Given the description of an element on the screen output the (x, y) to click on. 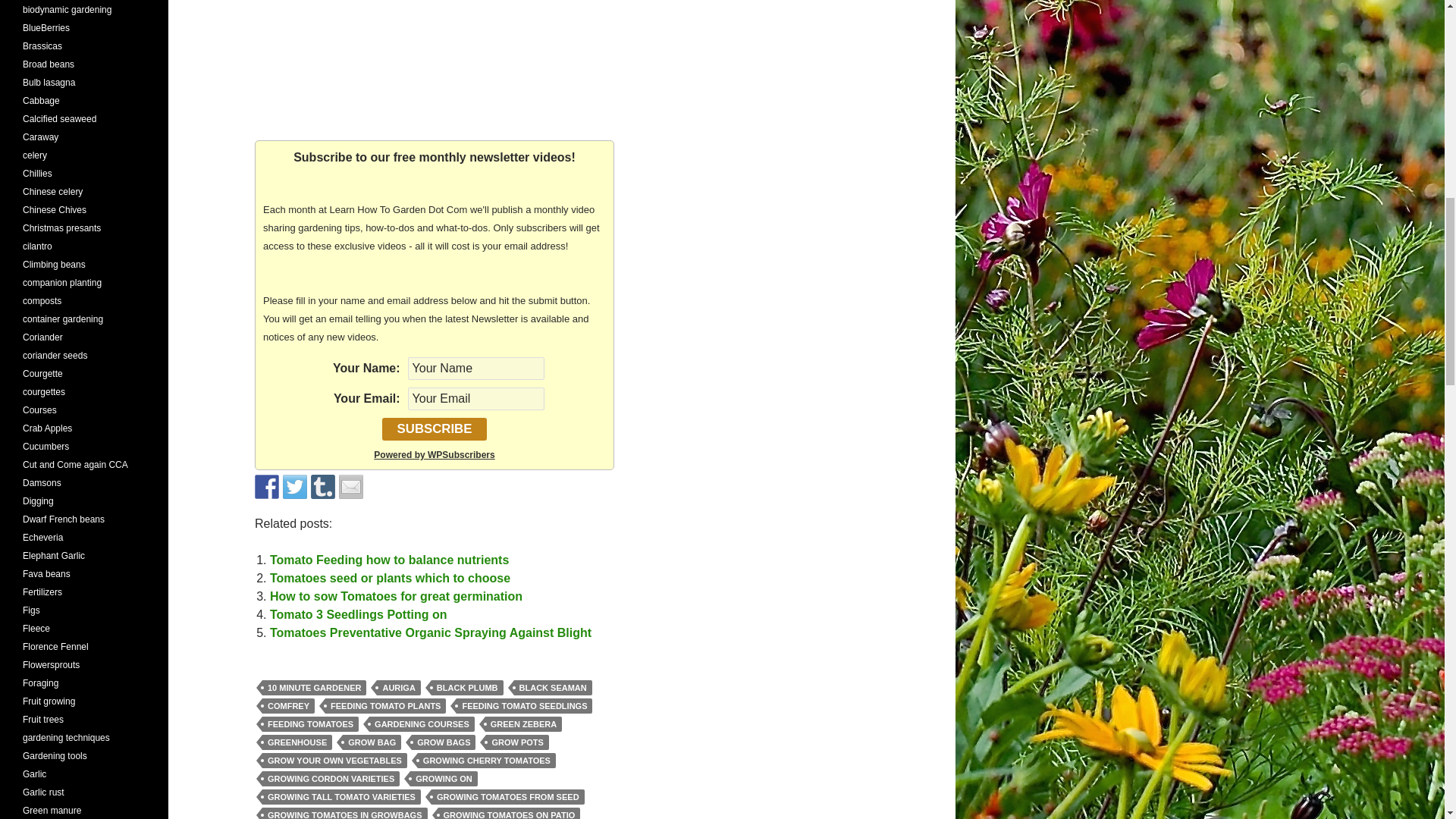
Your Name (475, 368)
Share on Twitter (294, 486)
Share by email (350, 486)
Your Email (475, 398)
WPSubscribers - premium wordpress subscriber plugin (434, 454)
Share on Facebook (266, 486)
Tomatoes Preventative Organic Spraying Against Blight (430, 632)
How to sow Tomatoes for great germination (395, 595)
Subscribe (434, 428)
Tomato 3   Seedlings Potting on (357, 614)
Share on tumblr (322, 486)
YouTube video player (434, 58)
Tomatoes seed or plants  which to choose (390, 577)
Tomato  Feeding   how to balance nutrients (388, 559)
